Given the description of an element on the screen output the (x, y) to click on. 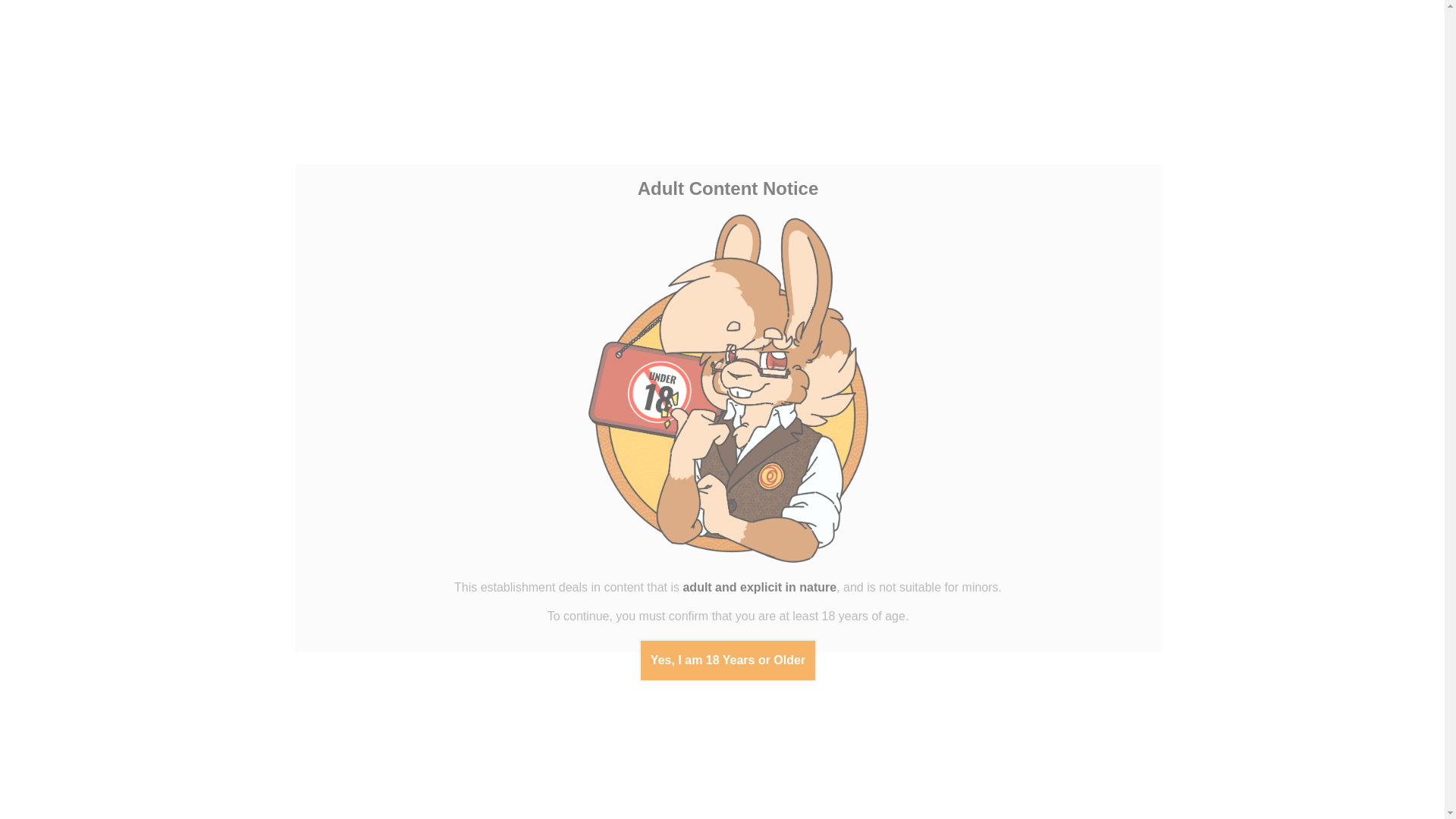
Friday (127, 659)
19 (40, 724)
Wednesday (85, 659)
Posts by Chocolate Kitsune (625, 266)
Sunday (171, 659)
Leave a comment (518, 267)
YCH Art Slots (106, 343)
More From Me (106, 511)
Chocolate's Candy Shop (113, 55)
29 (106, 740)
